Given the description of an element on the screen output the (x, y) to click on. 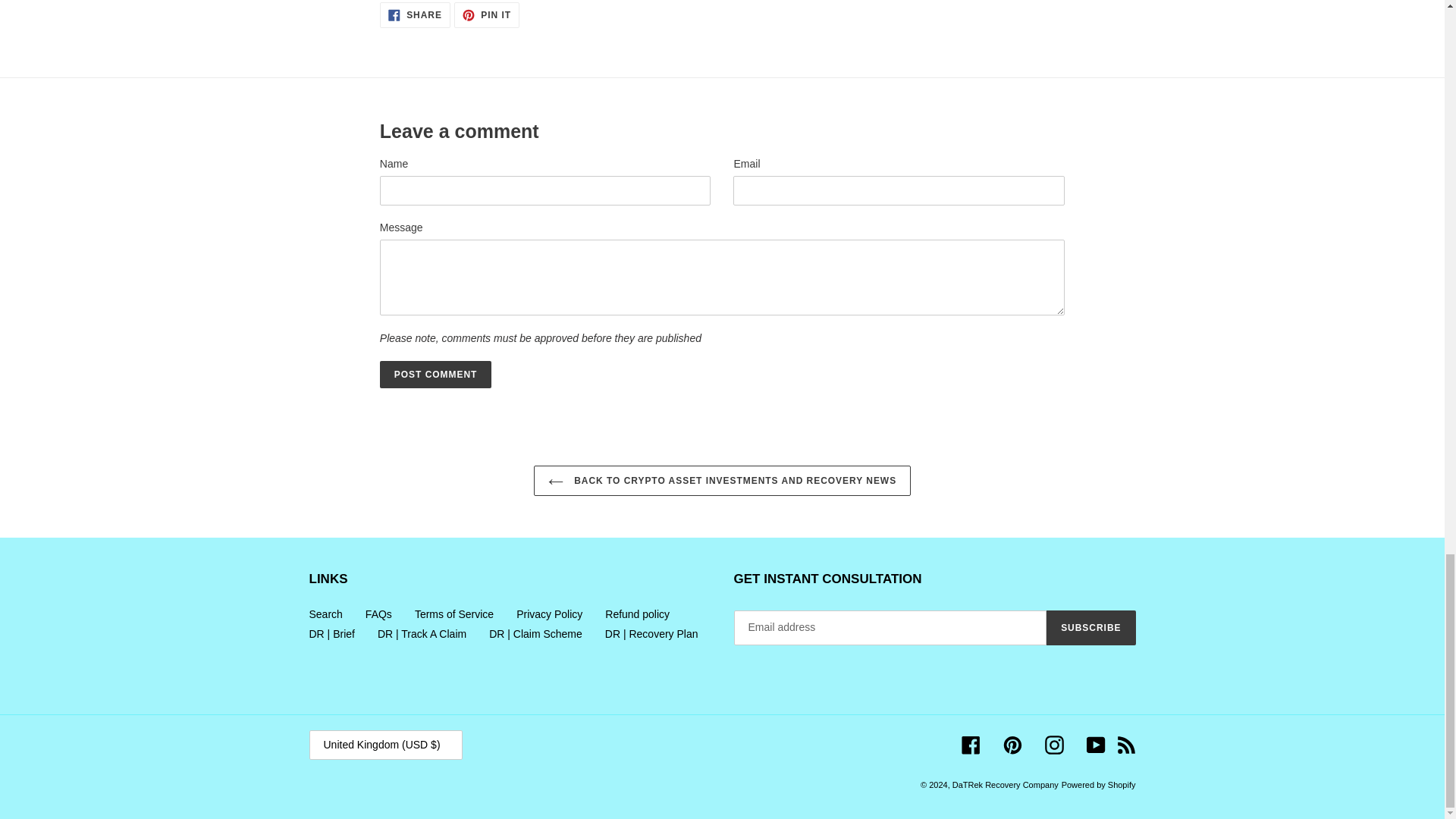
Post comment (436, 374)
FAQs (486, 14)
Terms of Service (414, 14)
Post comment (378, 613)
BACK TO CRYPTO ASSET INVESTMENTS AND RECOVERY NEWS (453, 613)
Privacy Policy (436, 374)
Refund policy (722, 481)
Search (549, 613)
